Given the description of an element on the screen output the (x, y) to click on. 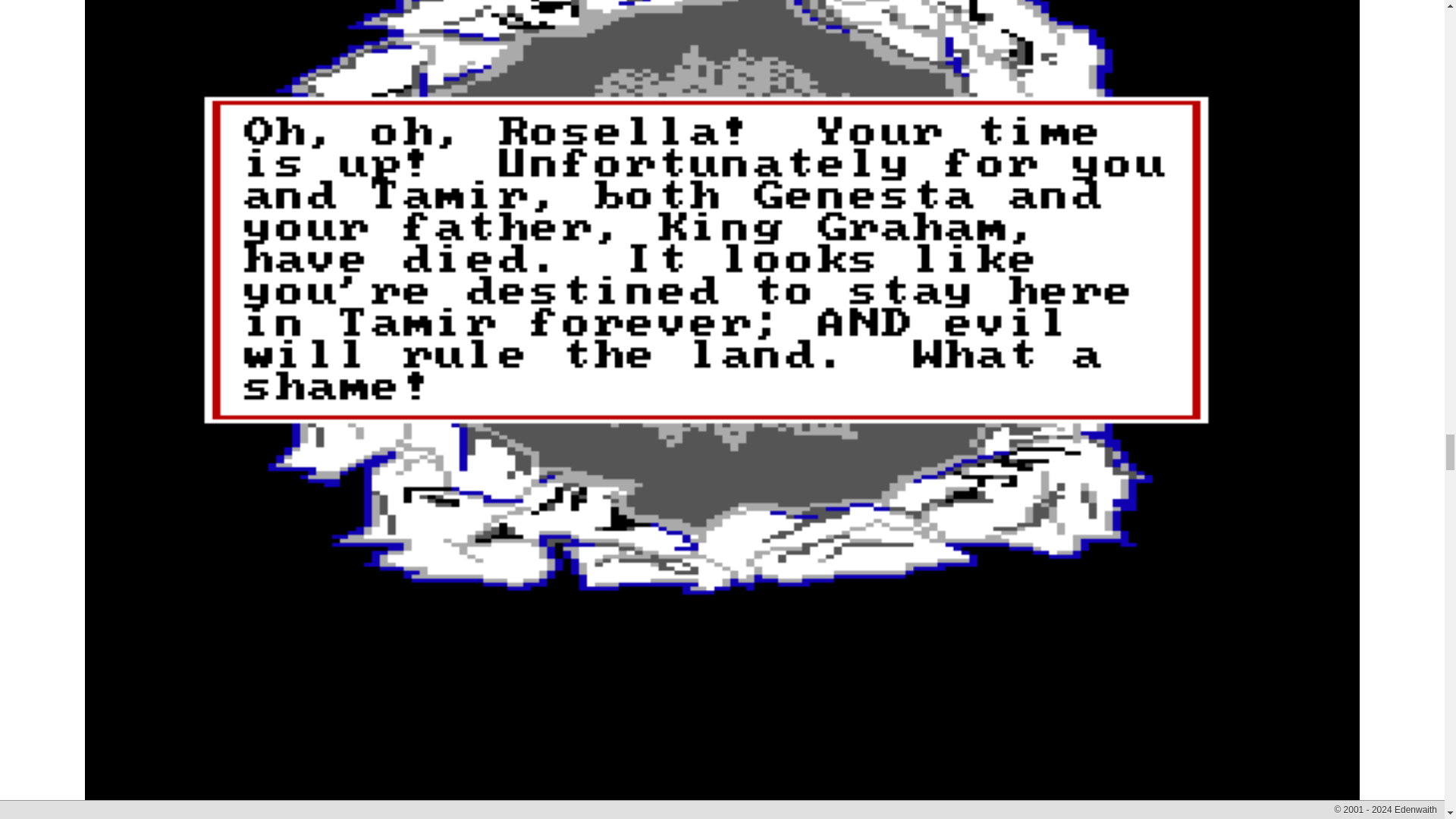
Procrastination screen 2 - AGI version of King's Quest 4 (721, 794)
